Given the description of an element on the screen output the (x, y) to click on. 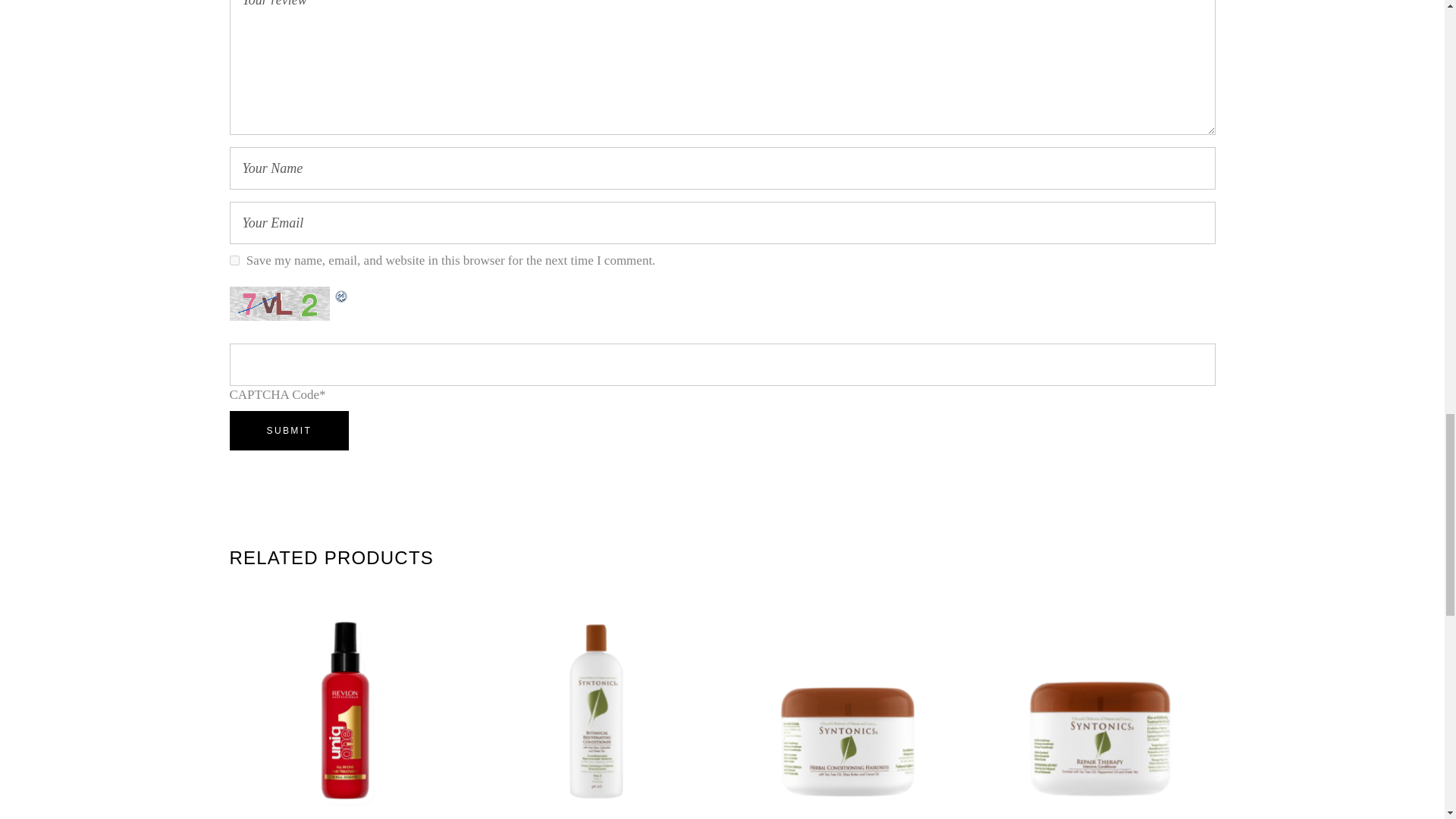
CAPTCHA (280, 303)
Refresh (341, 295)
yes (233, 260)
Submit (288, 430)
